Given the description of an element on the screen output the (x, y) to click on. 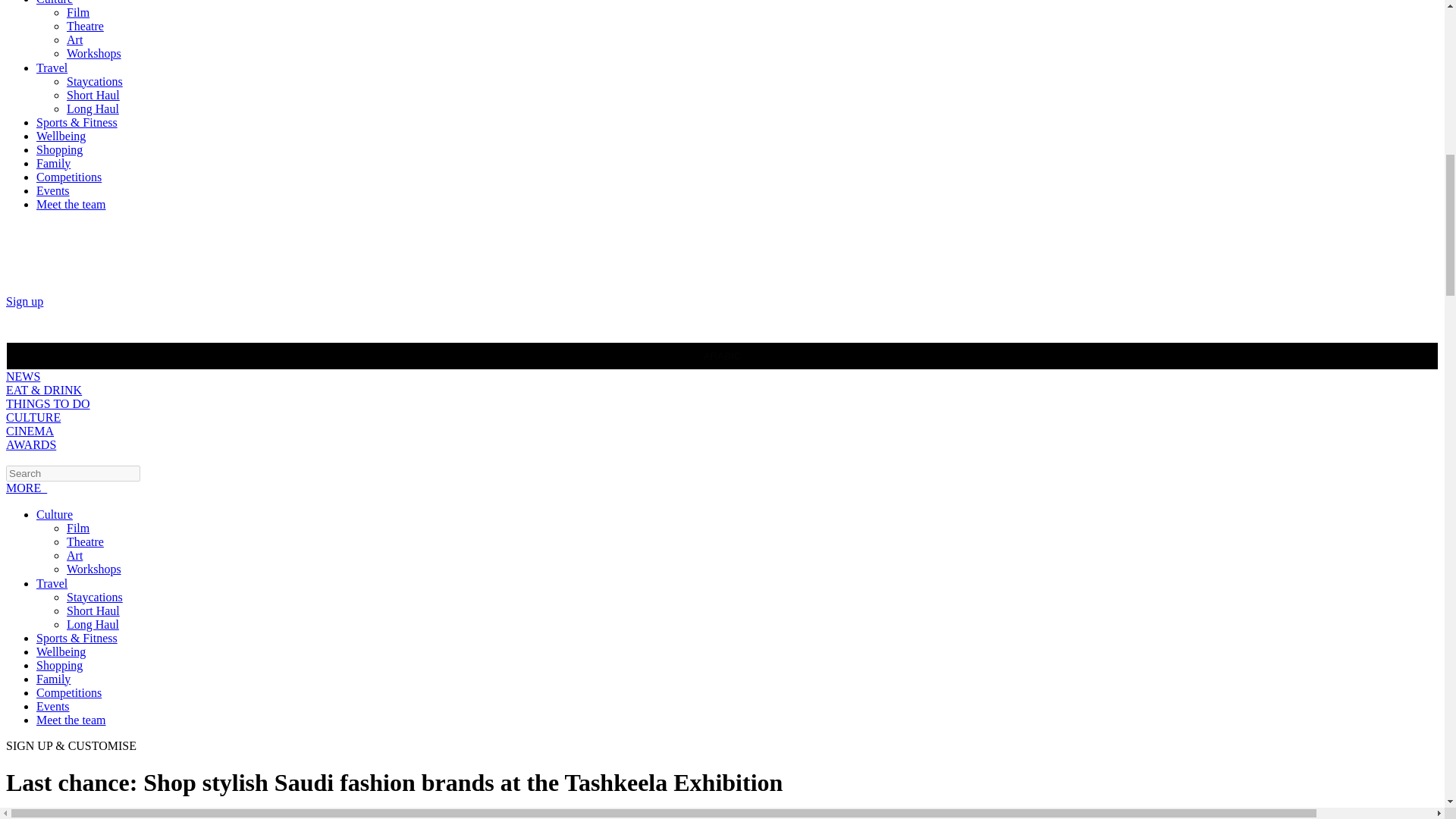
Art (74, 39)
Workshops (93, 52)
Short Haul (92, 94)
Culture (54, 2)
Film (77, 11)
Staycations (94, 81)
Theatre (84, 25)
Travel (51, 67)
